Given the description of an element on the screen output the (x, y) to click on. 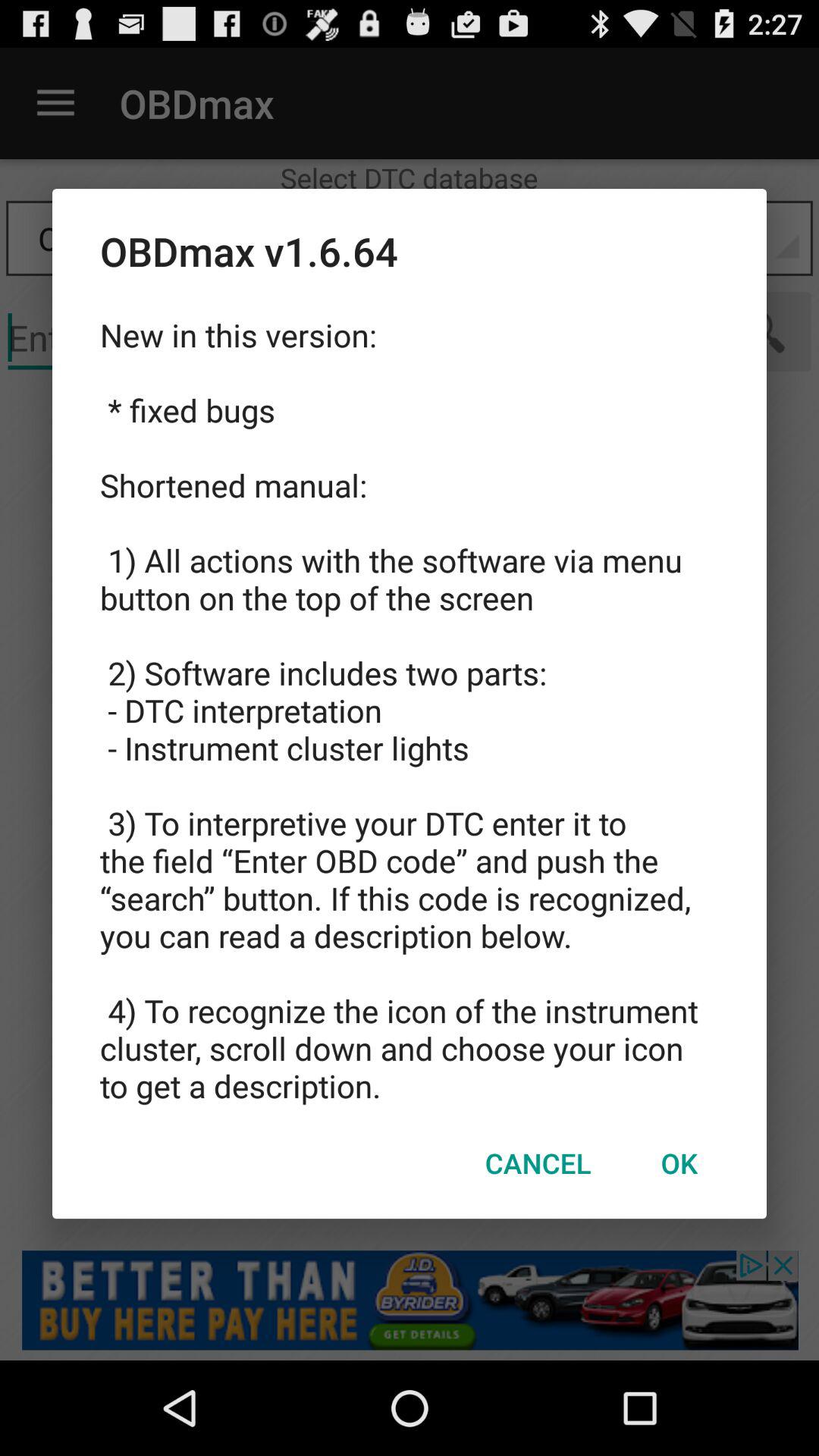
open icon to the right of the cancel item (678, 1162)
